Given the description of an element on the screen output the (x, y) to click on. 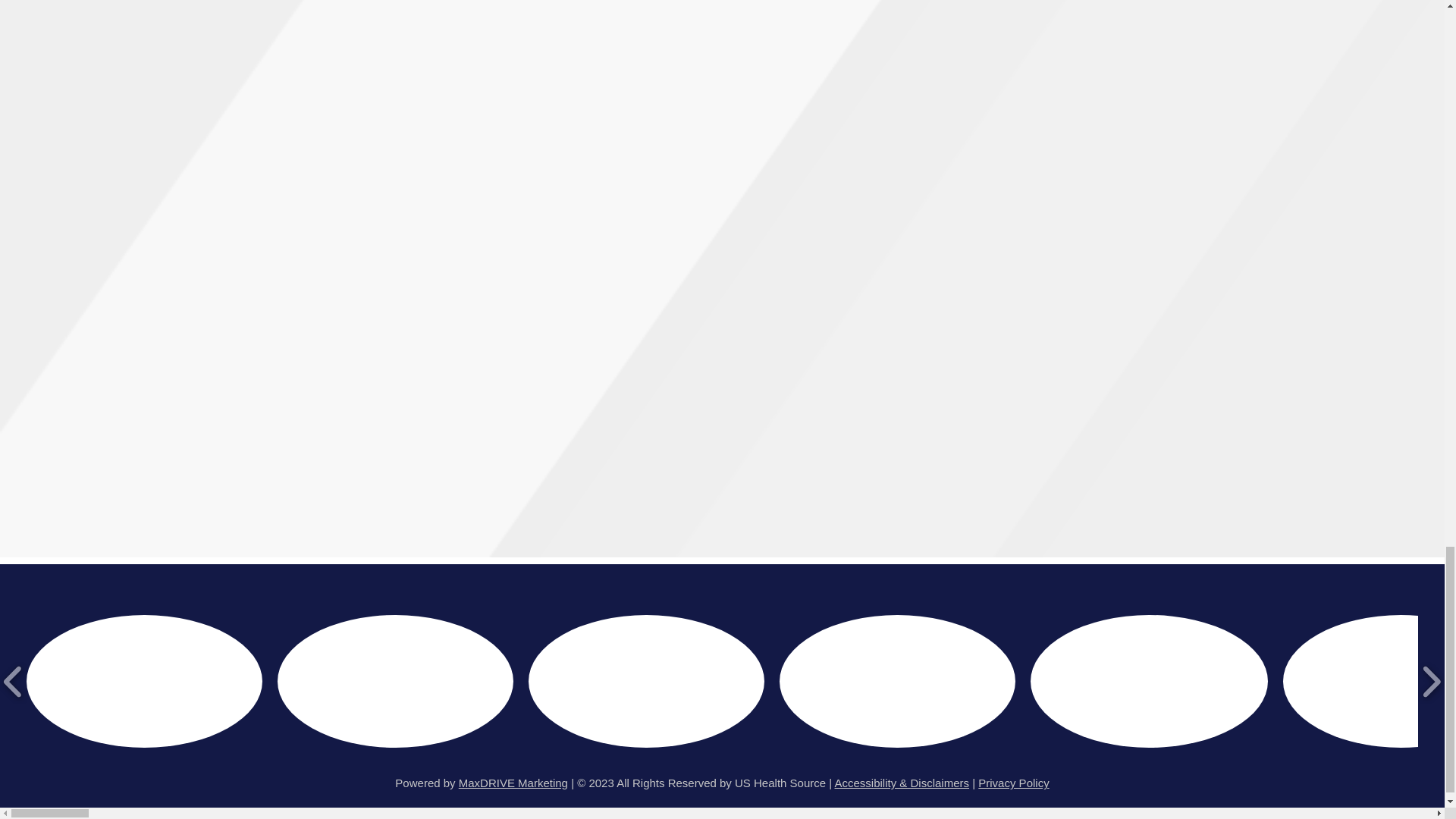
MaxDRIVE Marketing (512, 782)
Privacy Policy (1013, 782)
